Given the description of an element on the screen output the (x, y) to click on. 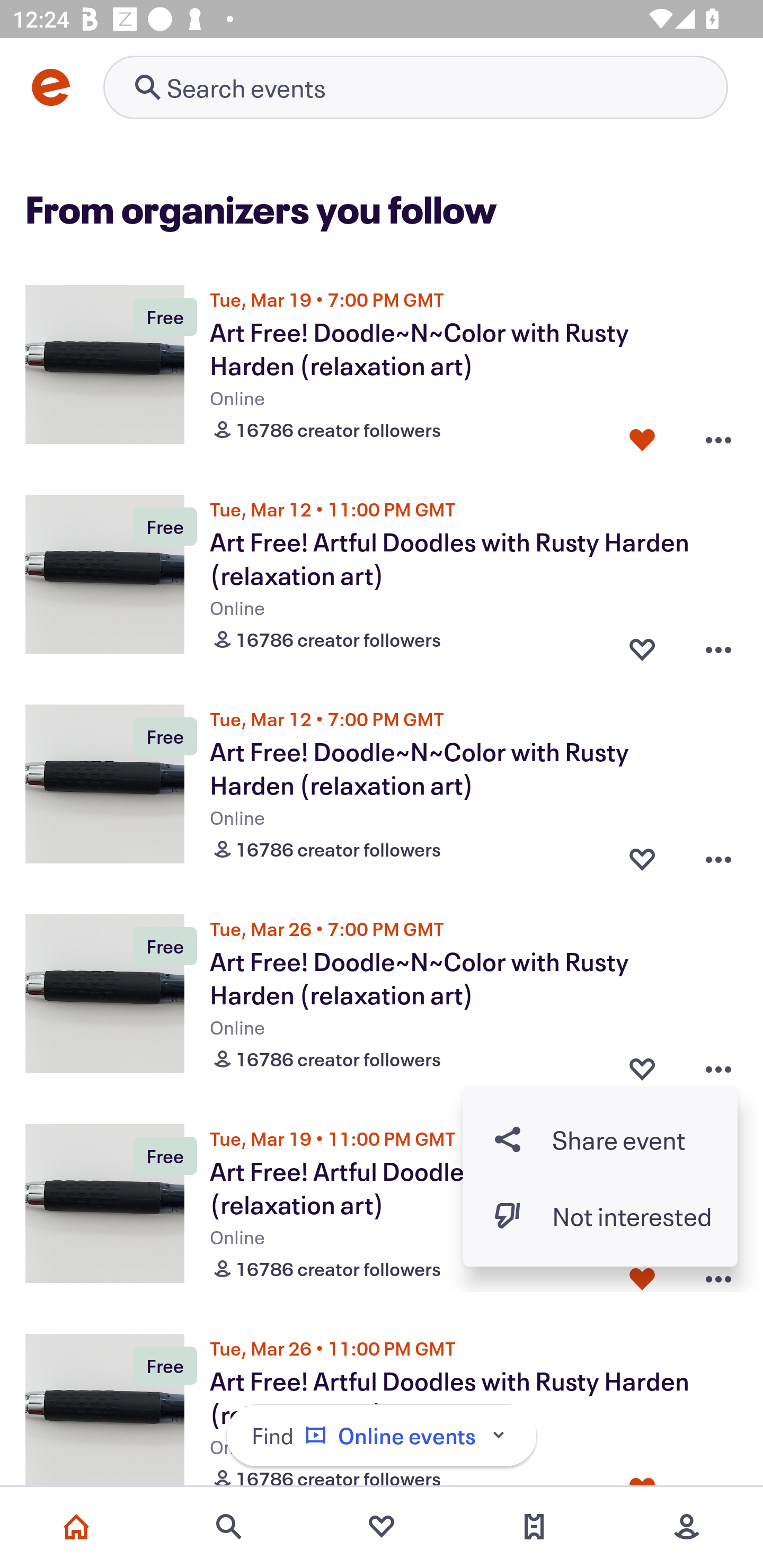
Share button Share event (600, 1138)
Dislike event button Not interested (600, 1215)
